Given the description of an element on the screen output the (x, y) to click on. 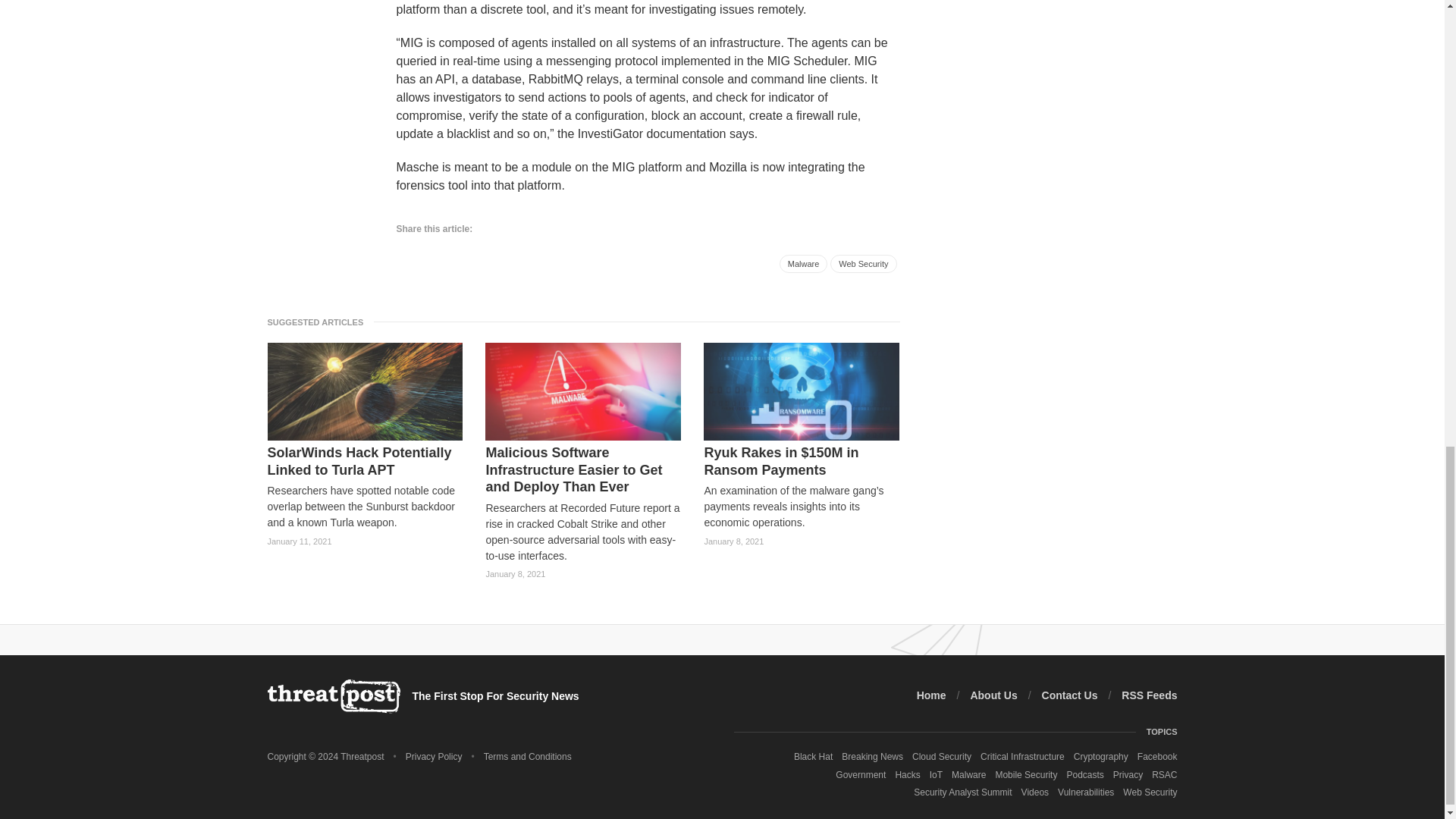
SolarWinds Hack Potentially Linked to Turla APT (364, 461)
Web Security (862, 263)
Malware (803, 263)
SUGGESTED ARTICLES (319, 321)
